Given the description of an element on the screen output the (x, y) to click on. 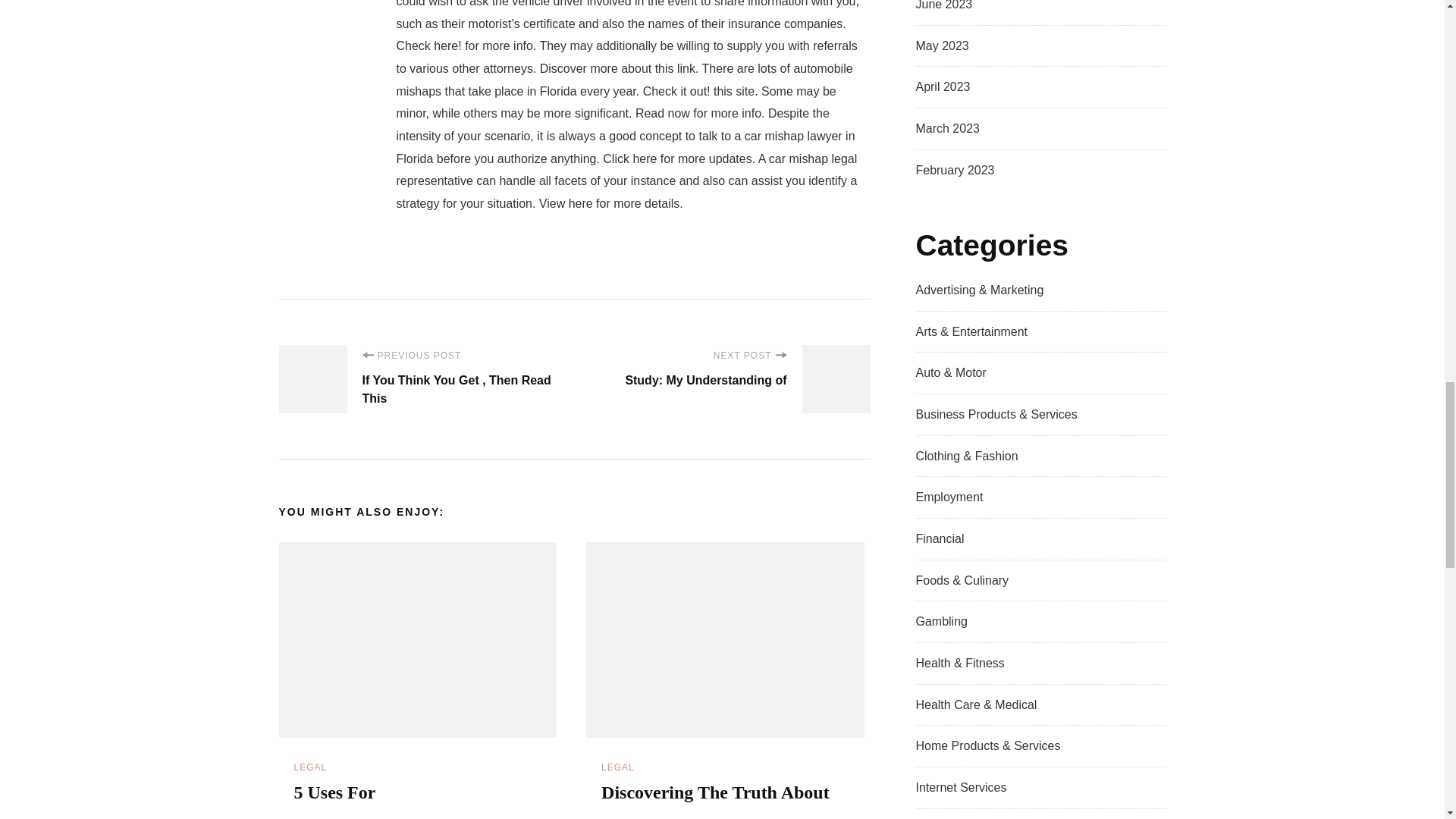
LEGAL (617, 767)
Discovering The Truth About (715, 792)
5 Uses For (334, 792)
LEGAL (310, 767)
